Given the description of an element on the screen output the (x, y) to click on. 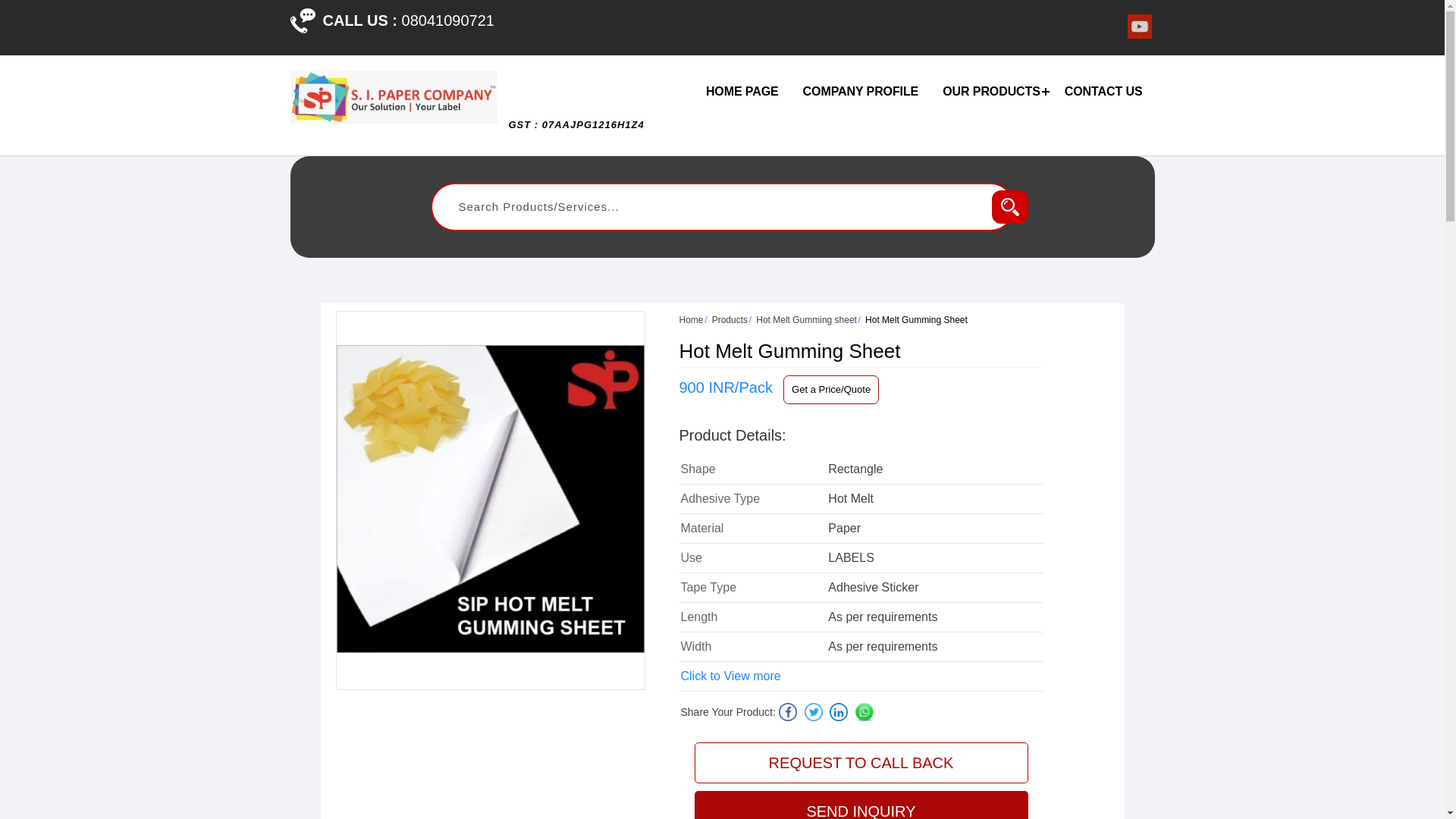
You Tube (1138, 33)
Search (1009, 206)
SEND INQUIRY (860, 805)
Click to View more (730, 676)
REQUEST TO CALL BACK (860, 762)
OUR PRODUCTS (991, 91)
GST : 07AAJPG1216H1Z4 (576, 131)
Products (729, 319)
CONTACT US (1103, 91)
Hot Melt Gumming sheet (806, 319)
